Given the description of an element on the screen output the (x, y) to click on. 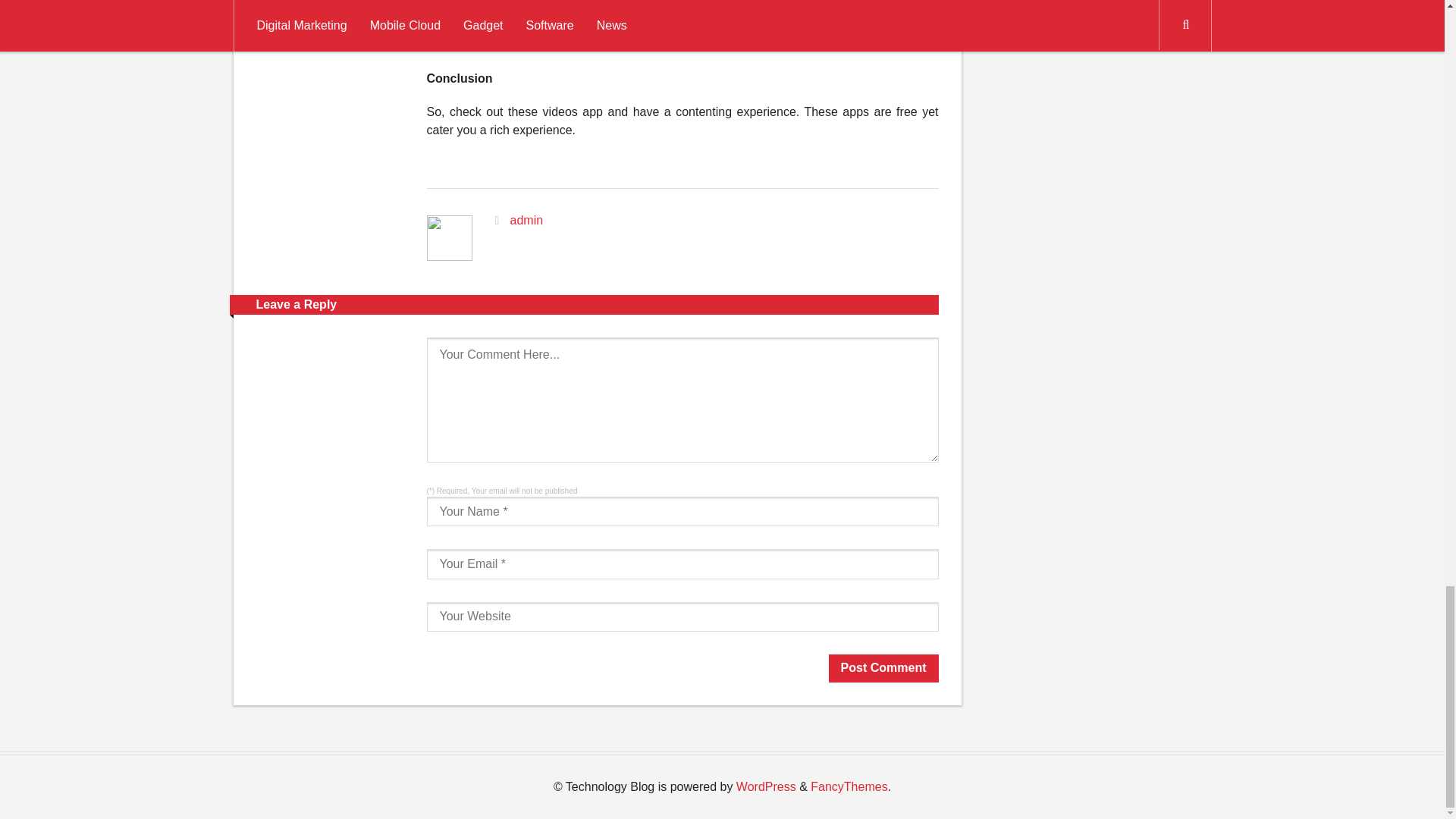
admin (526, 219)
Posts by admin (526, 219)
Post Comment (883, 668)
Post Comment (883, 668)
